Given the description of an element on the screen output the (x, y) to click on. 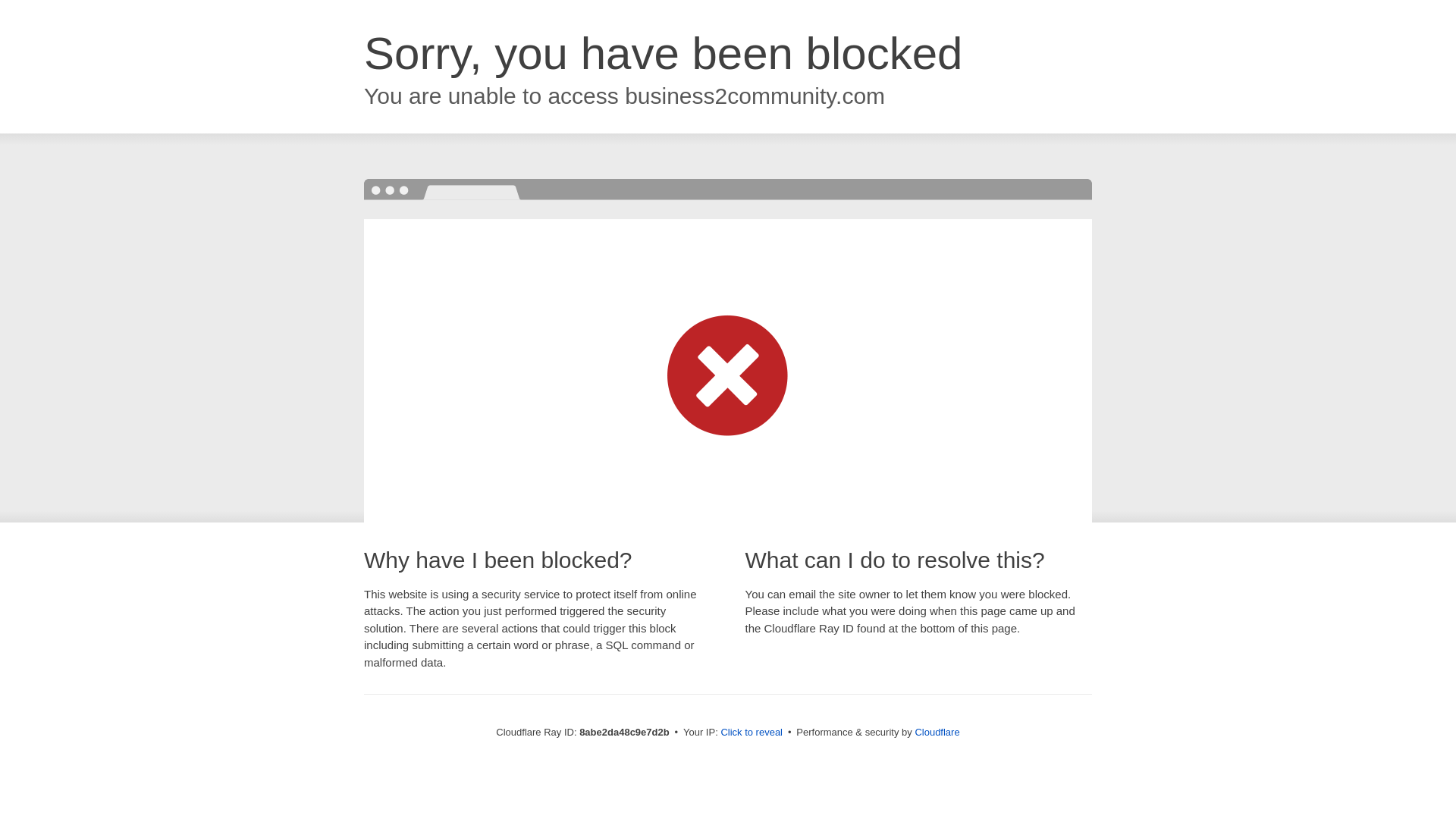
Cloudflare (936, 731)
Click to reveal (751, 732)
